Given the description of an element on the screen output the (x, y) to click on. 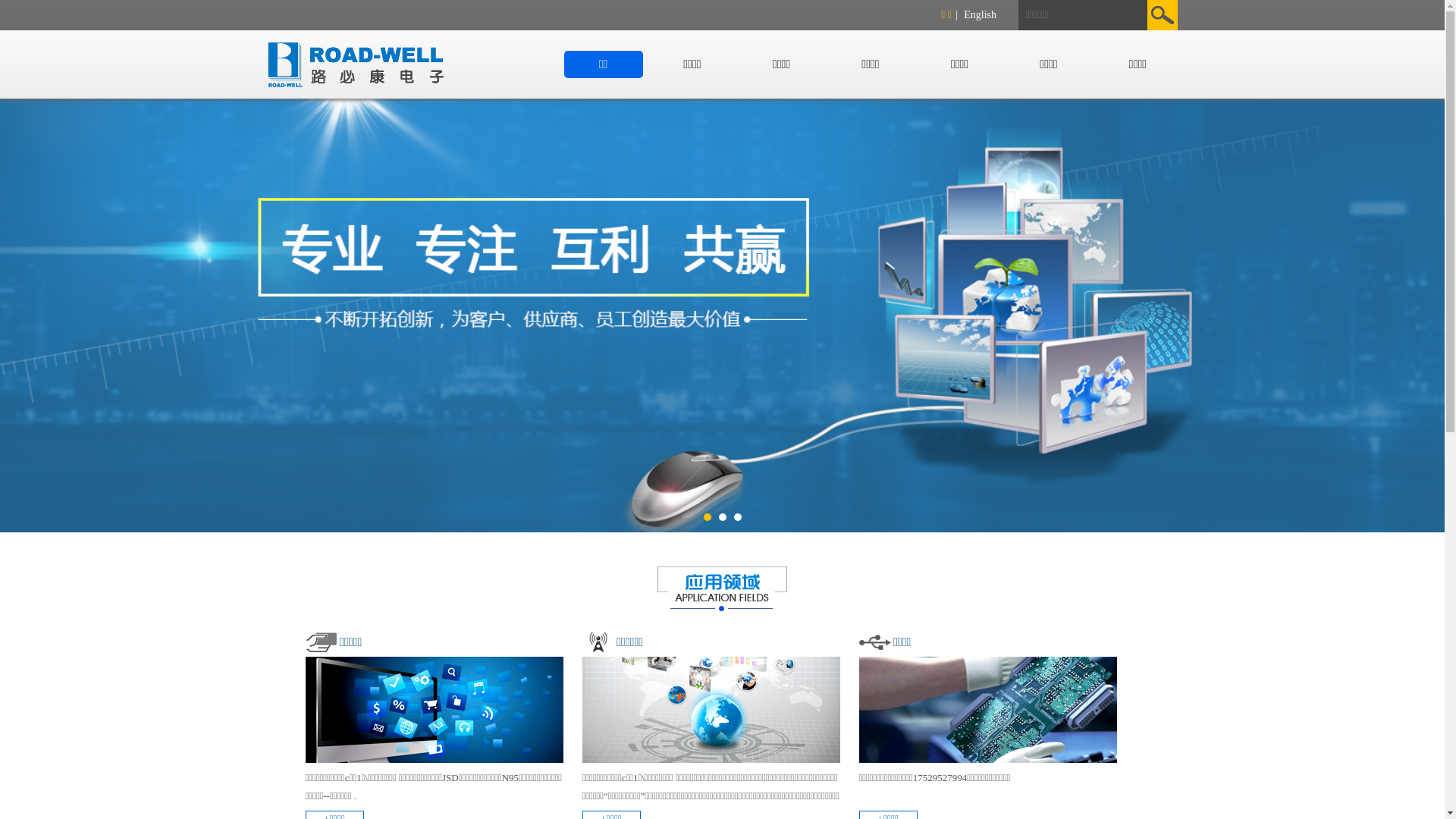
English Element type: text (979, 14)
